Given the description of an element on the screen output the (x, y) to click on. 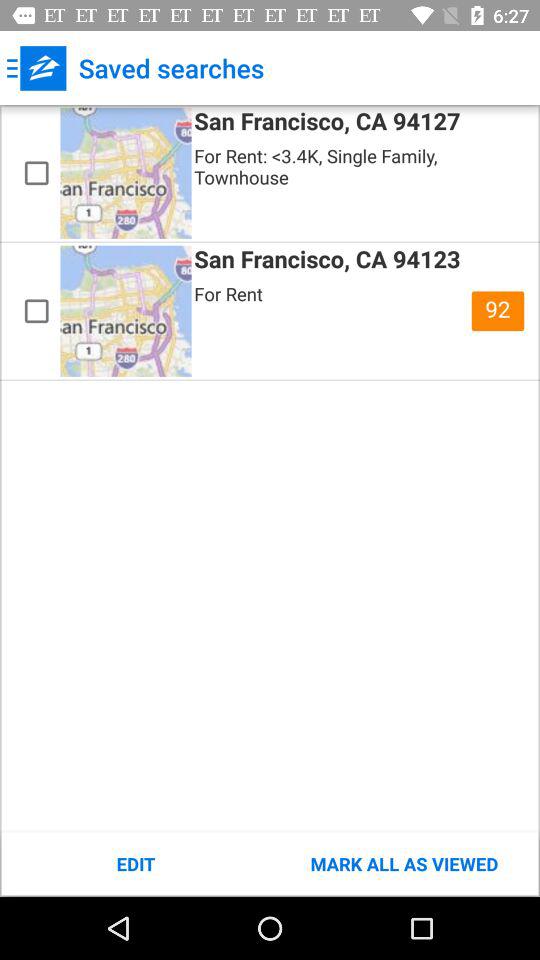
open item next to edit (404, 863)
